Given the description of an element on the screen output the (x, y) to click on. 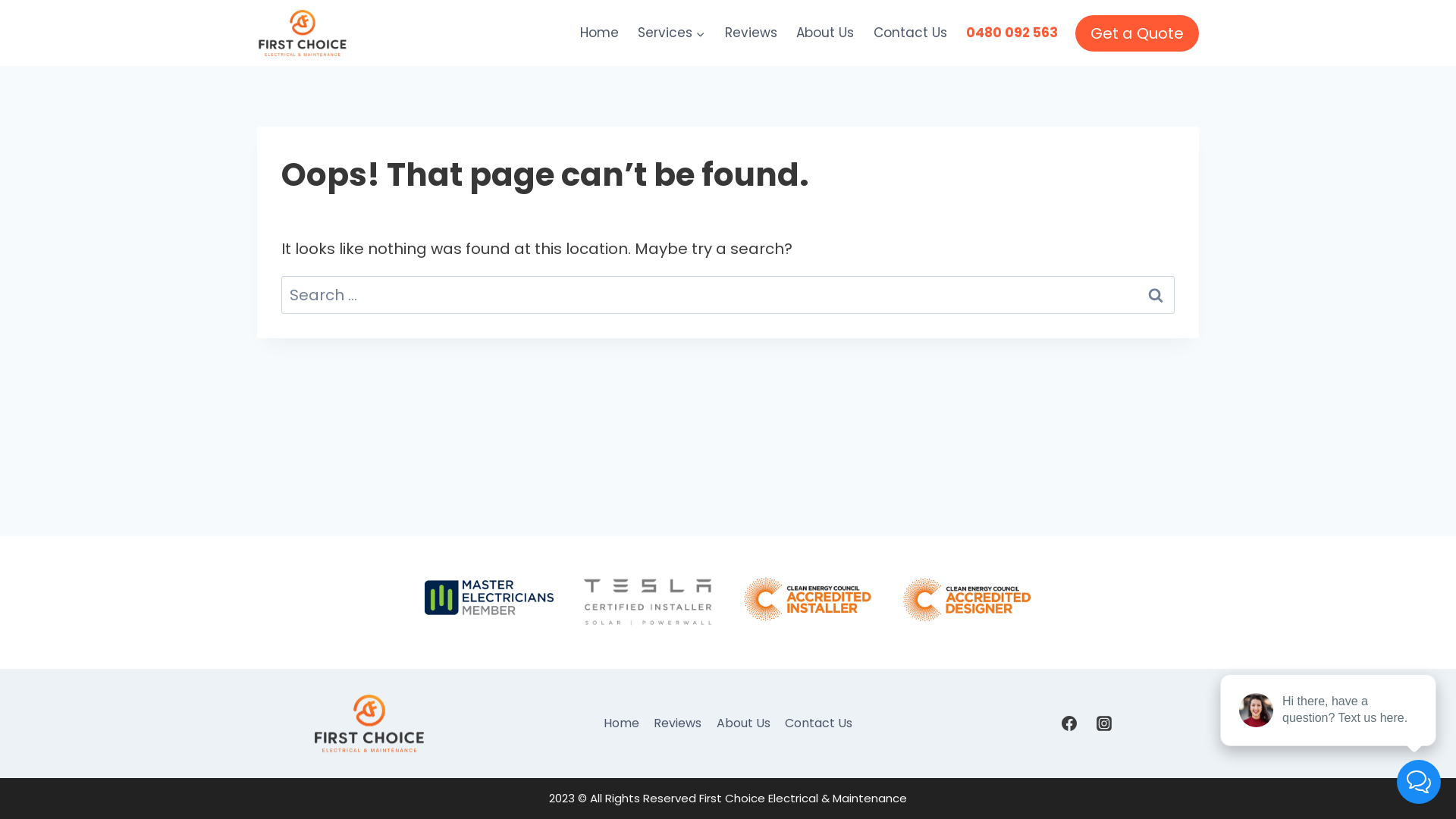
Search Element type: text (1155, 294)
About Us Element type: text (743, 722)
0480 092 563 Element type: text (1012, 33)
Reviews Element type: text (677, 722)
Get a Quote Element type: text (1136, 33)
Reviews Element type: text (751, 33)
Services Element type: text (671, 33)
Contact Us Element type: text (910, 33)
Contact Us Element type: text (818, 722)
Home Element type: text (621, 722)
Home Element type: text (599, 33)
About Us Element type: text (825, 33)
